Given the description of an element on the screen output the (x, y) to click on. 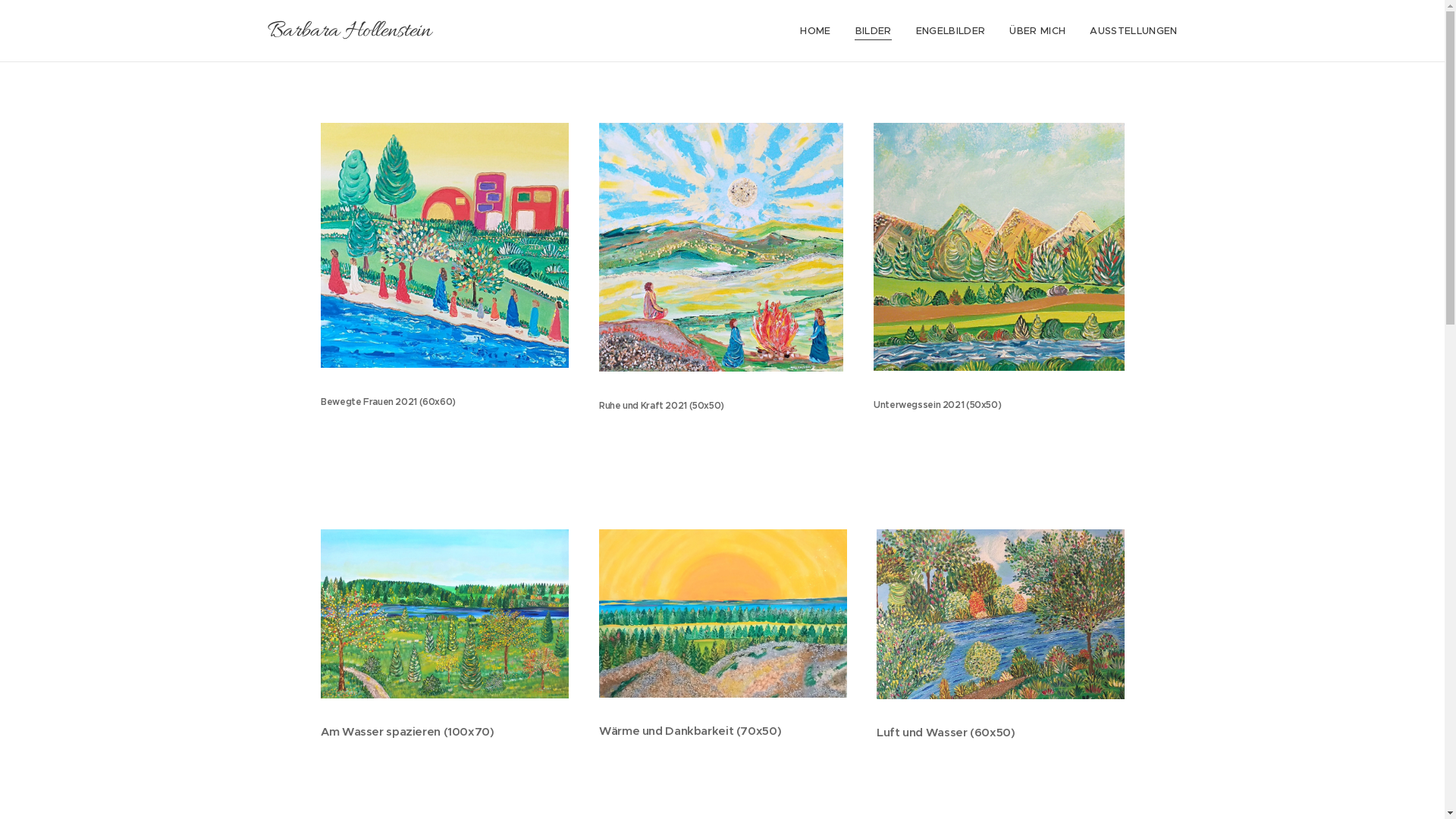
ENGELBILDER Element type: text (950, 31)
BILDER Element type: text (873, 31)
HOME Element type: text (819, 31)
Barbara Hollenstein Element type: text (348, 30)
AUSSTELLUNGEN Element type: text (1126, 31)
